Given the description of an element on the screen output the (x, y) to click on. 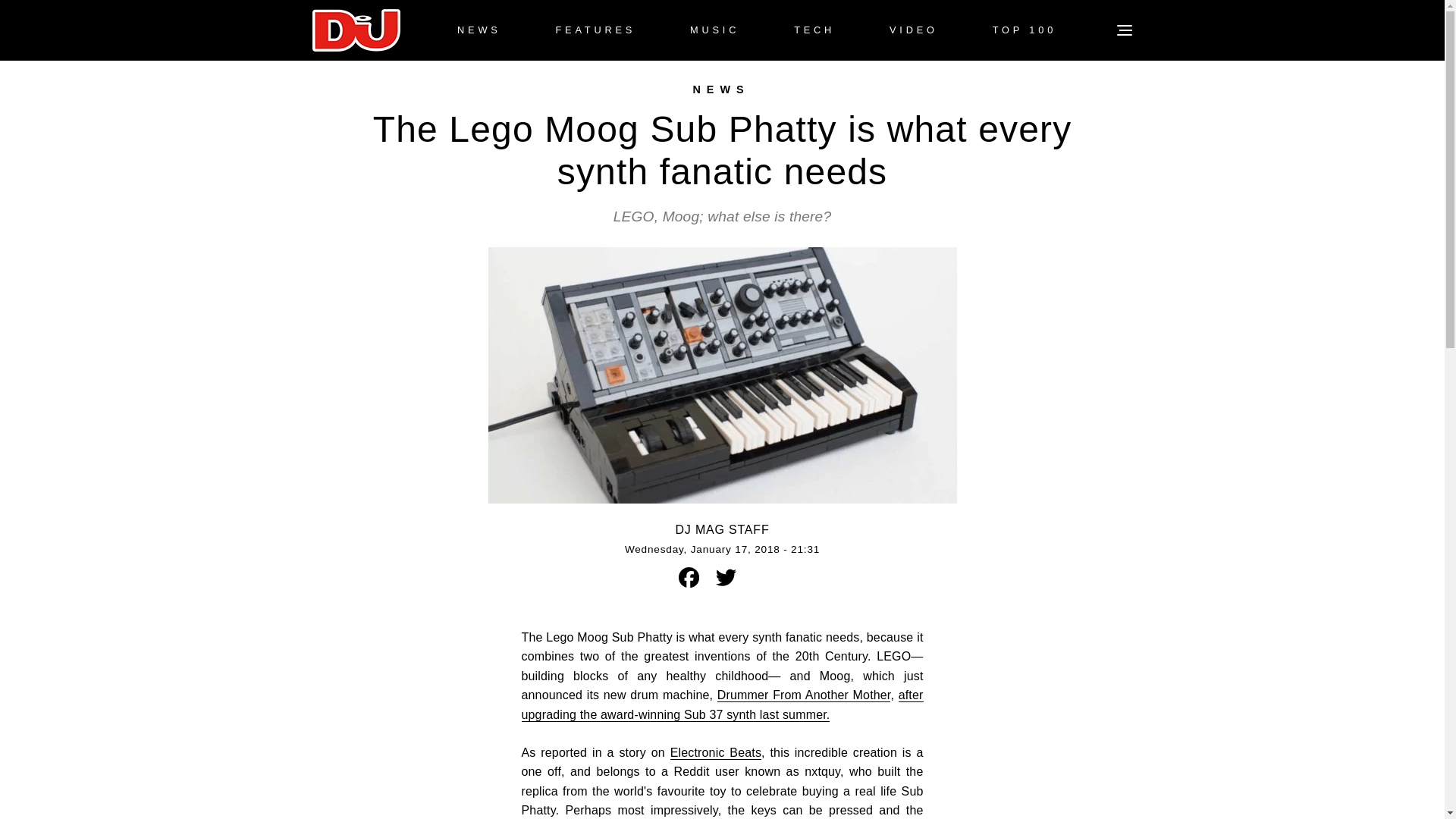
FEATURES (594, 29)
MUSIC (714, 29)
Share to Twitter (725, 577)
VIDEO (913, 29)
Twitter (726, 577)
Share to Facebook (689, 577)
NEWS (478, 29)
DJ Mag (356, 30)
Facebook (688, 577)
TECH (813, 29)
